Given the description of an element on the screen output the (x, y) to click on. 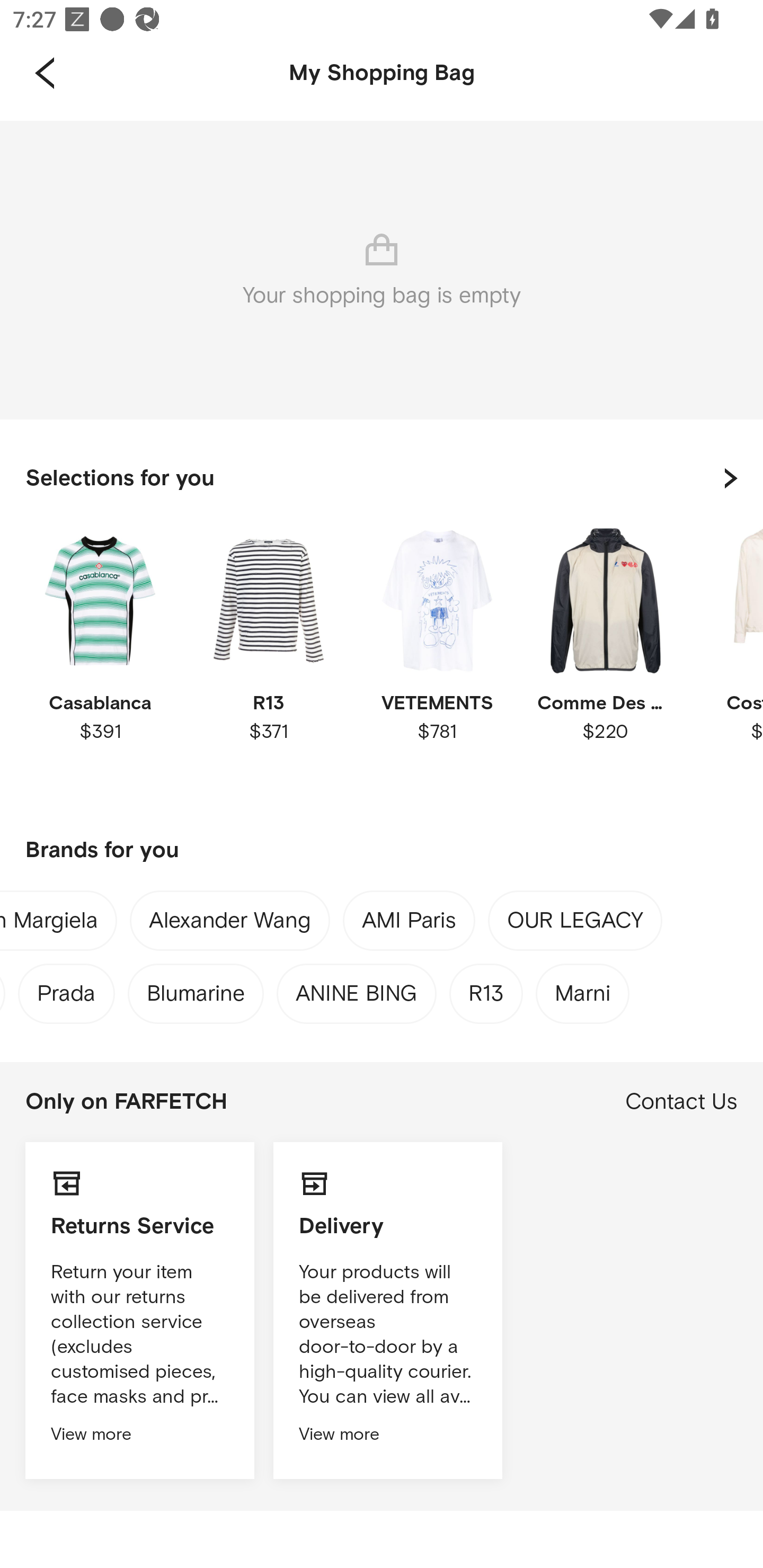
Selections for you (381, 477)
Casablanca $391 (100, 660)
R13 $371 (268, 660)
VETEMENTS $781 (436, 660)
Comme Des Garçons Play $220 (605, 660)
Brands for you (381, 850)
Maison Margiela (48, 924)
Alexander Wang (229, 924)
AMI Paris (408, 924)
OUR LEGACY (575, 924)
Prada (66, 988)
Blumarine (195, 988)
ANINE BING (356, 988)
R13 (486, 988)
Marni (582, 988)
Contact Us (680, 1101)
